Given the description of an element on the screen output the (x, y) to click on. 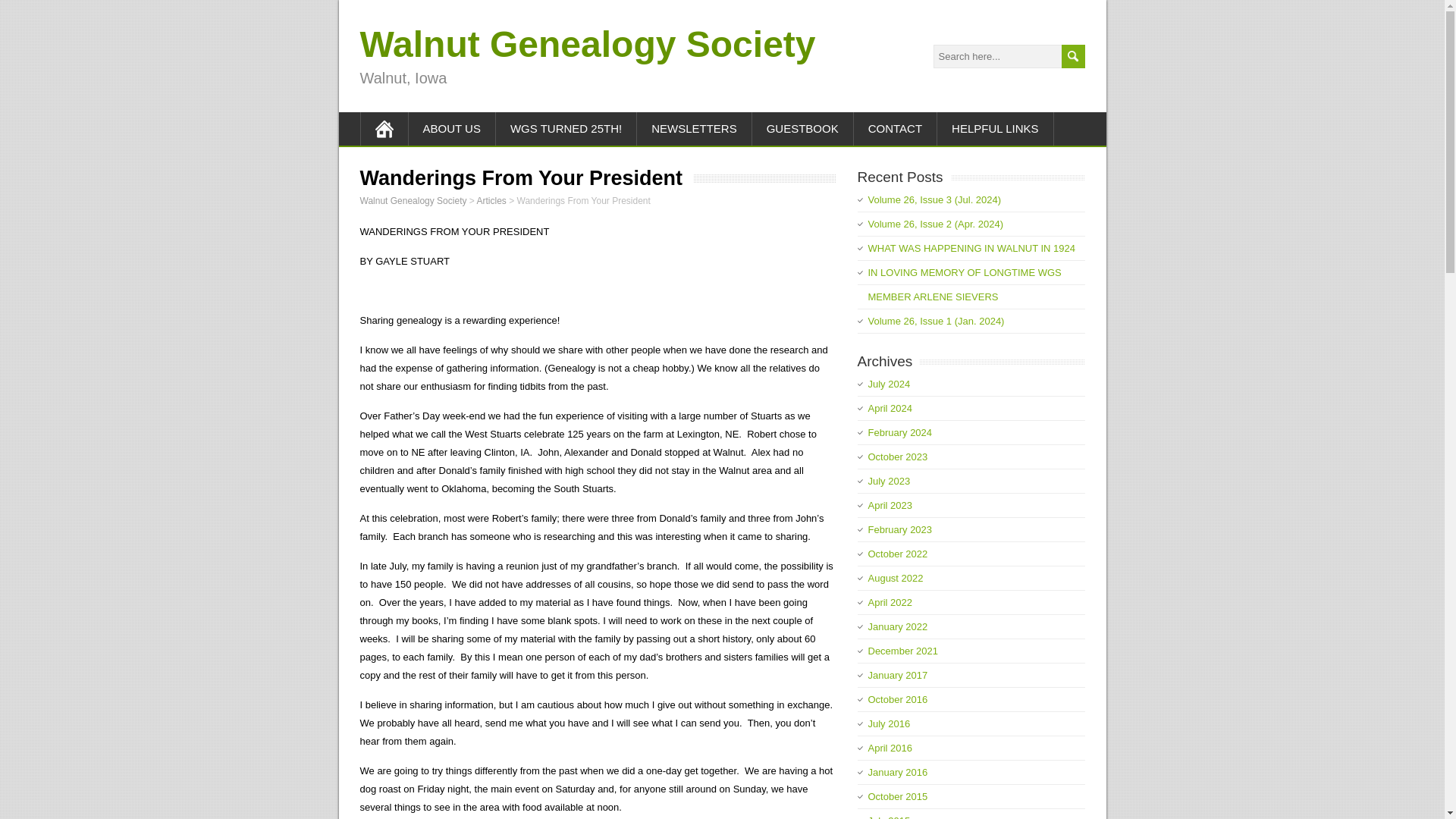
February 2023 (899, 529)
WGS TURNED 25TH! (566, 128)
January 2016 (897, 772)
CONTACT (895, 128)
Go to Articles. (490, 200)
April 2022 (889, 602)
July 2023 (888, 480)
July 2015 (888, 816)
Articles (490, 200)
October 2022 (897, 553)
